Given the description of an element on the screen output the (x, y) to click on. 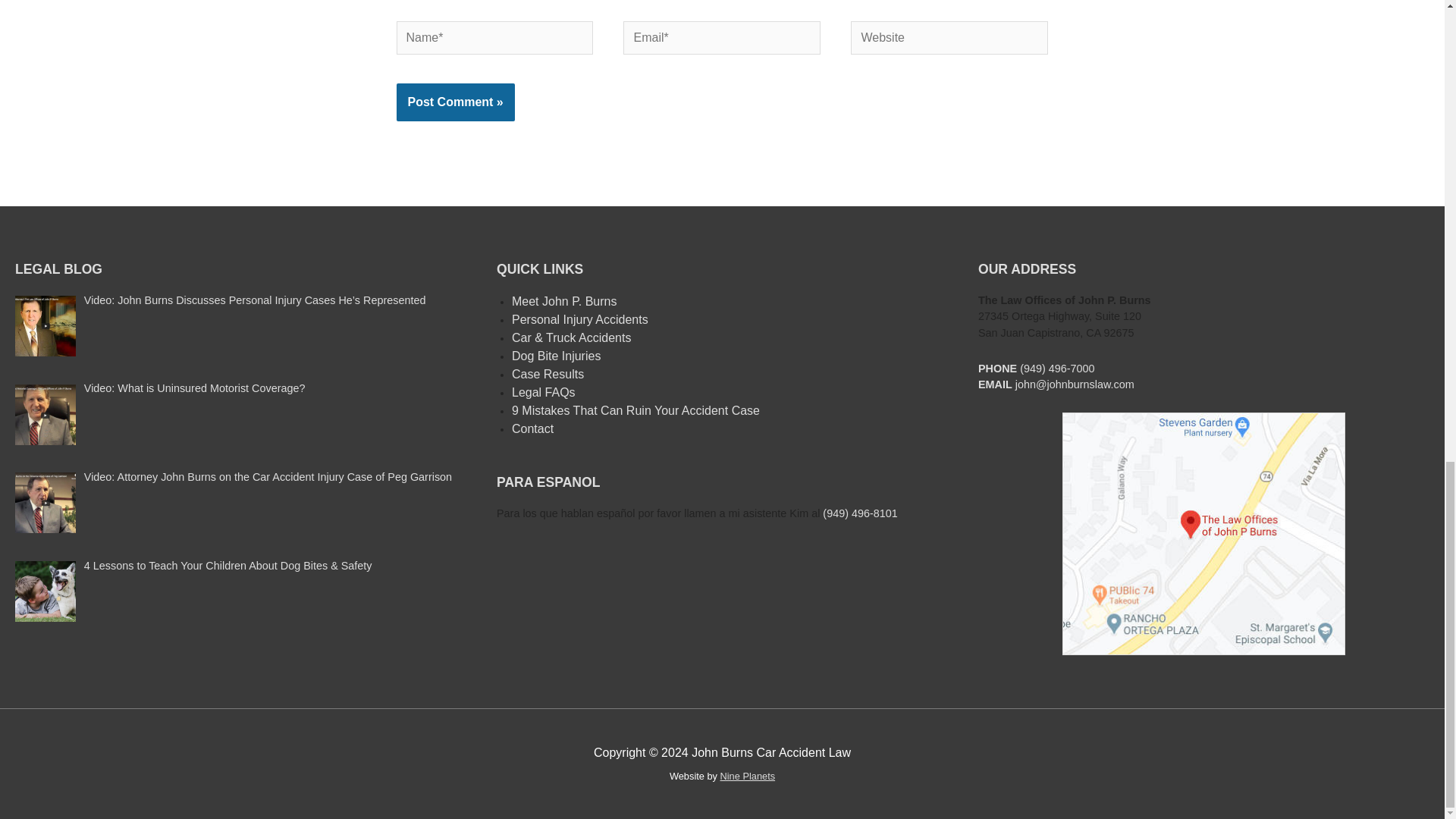
Personal Injury Accidents (579, 318)
Meet John P. Burns (563, 300)
Video: What is Uninsured Motorist Coverage? (194, 387)
Dog Bite Injuries (555, 355)
